Given the description of an element on the screen output the (x, y) to click on. 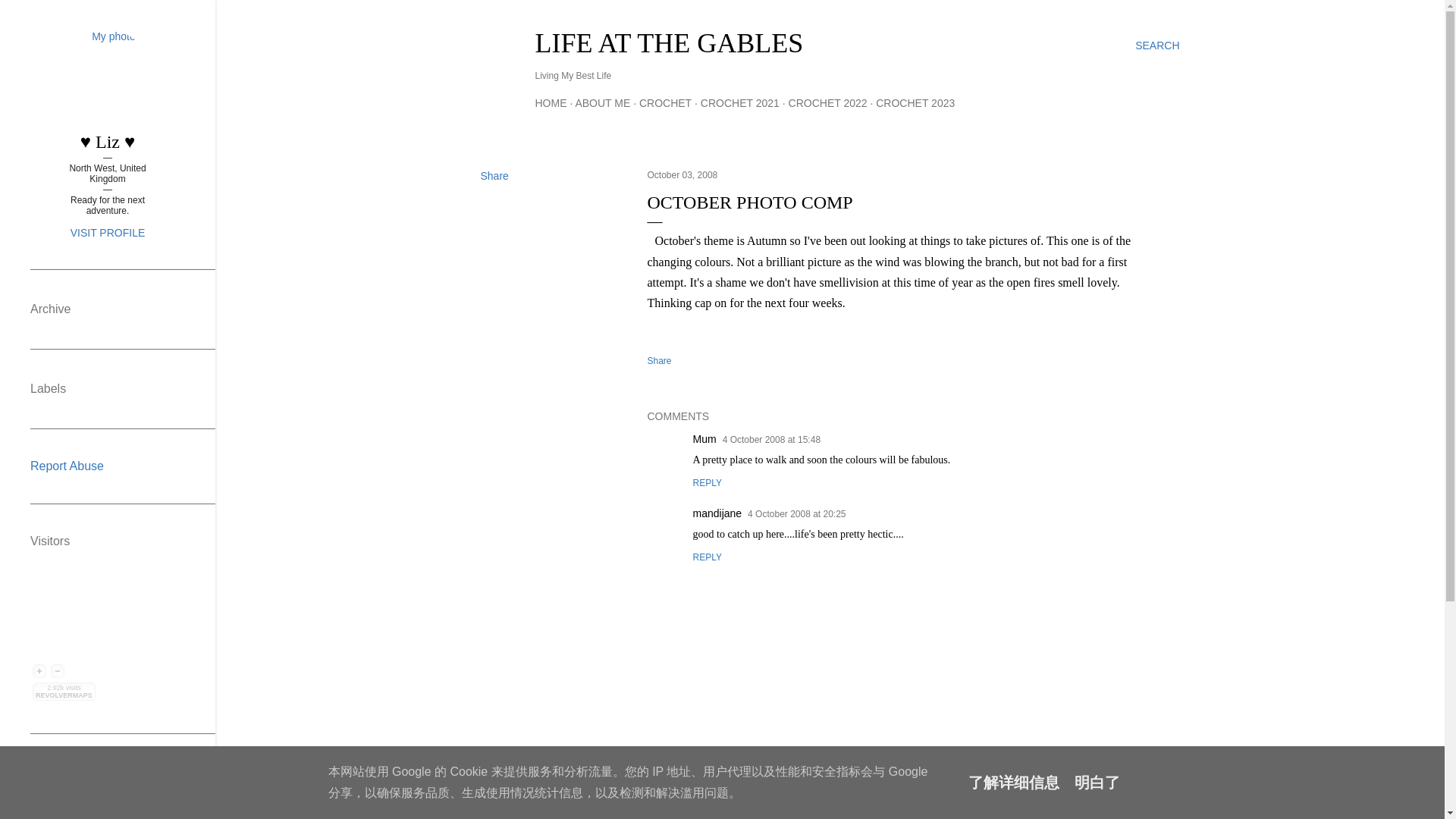
VISIT PROFILE (107, 232)
LIFE AT THE GABLES (669, 42)
REPLY (707, 557)
4 October 2008 at 20:25 (796, 513)
HOME (551, 102)
4 October 2008 at 15:48 (771, 439)
Share (659, 360)
permanent link (682, 174)
October 03, 2008 (682, 174)
Share (494, 175)
SEARCH (1157, 45)
CROCHET 2022 (828, 102)
CROCHET 2023 (915, 102)
ABOUT ME (602, 102)
CROCHET (665, 102)
